Given the description of an element on the screen output the (x, y) to click on. 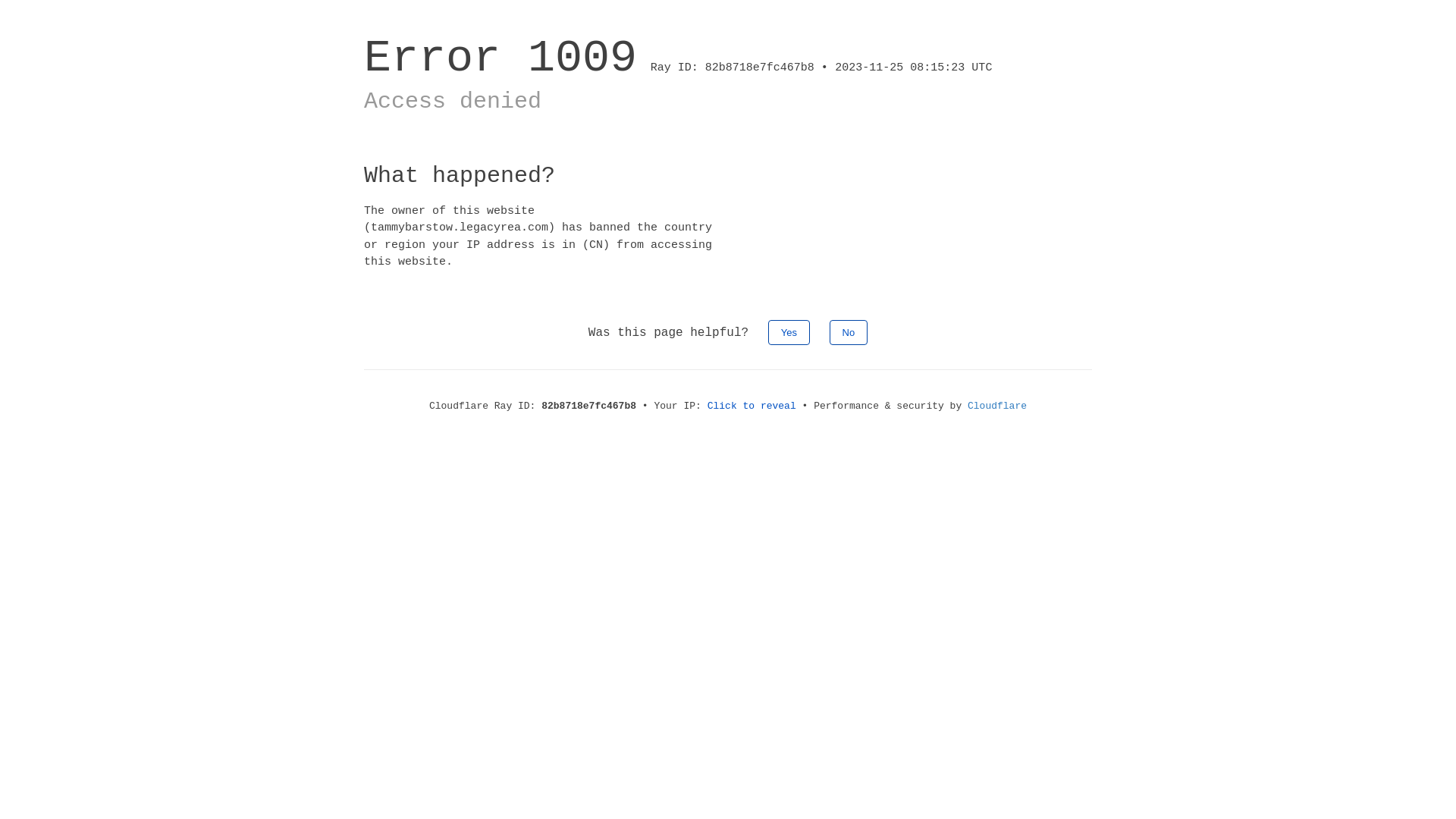
No Element type: text (848, 332)
Cloudflare Element type: text (996, 405)
Yes Element type: text (788, 332)
Click to reveal Element type: text (751, 405)
